Given the description of an element on the screen output the (x, y) to click on. 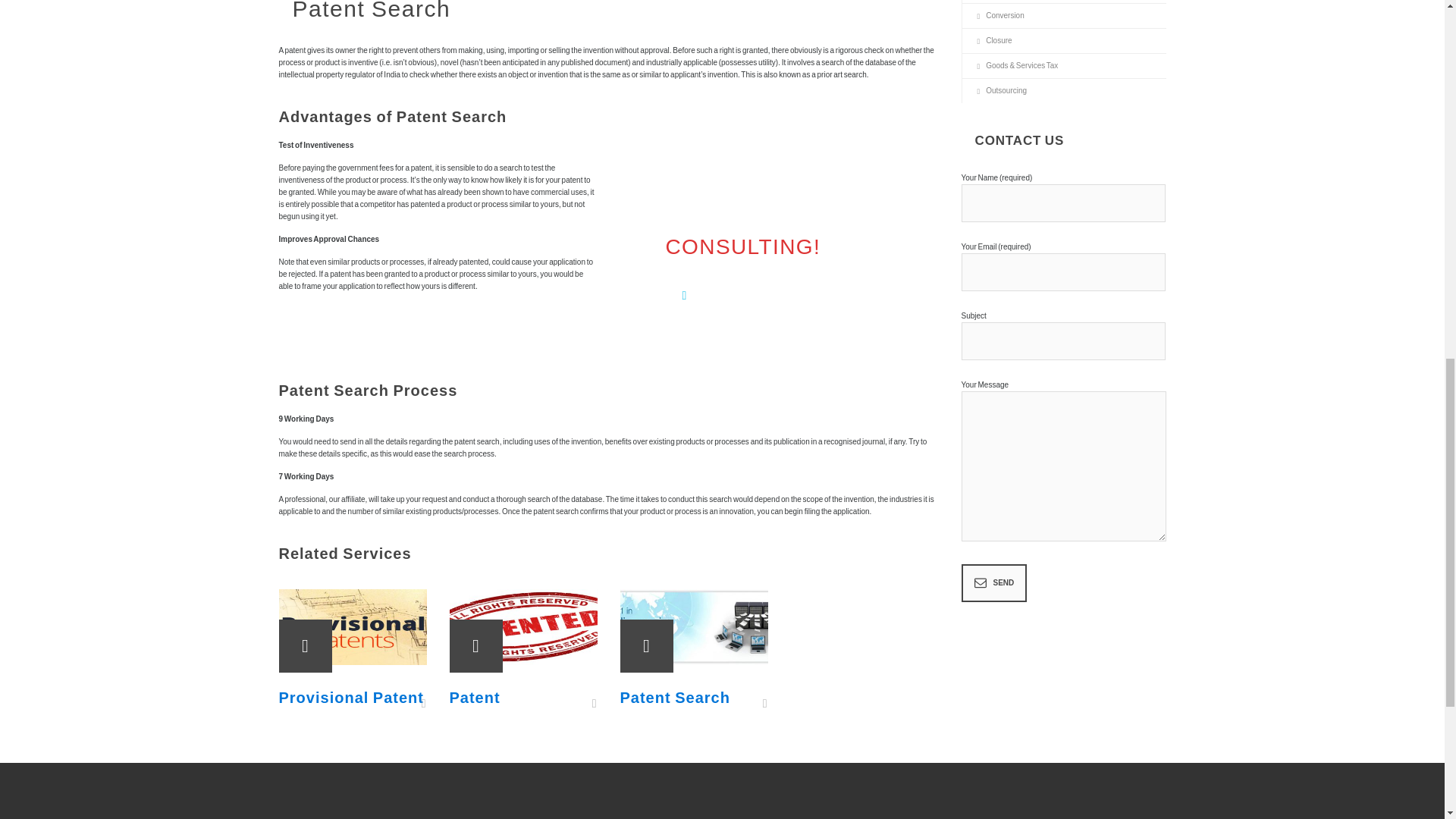
Send (993, 582)
